Given the description of an element on the screen output the (x, y) to click on. 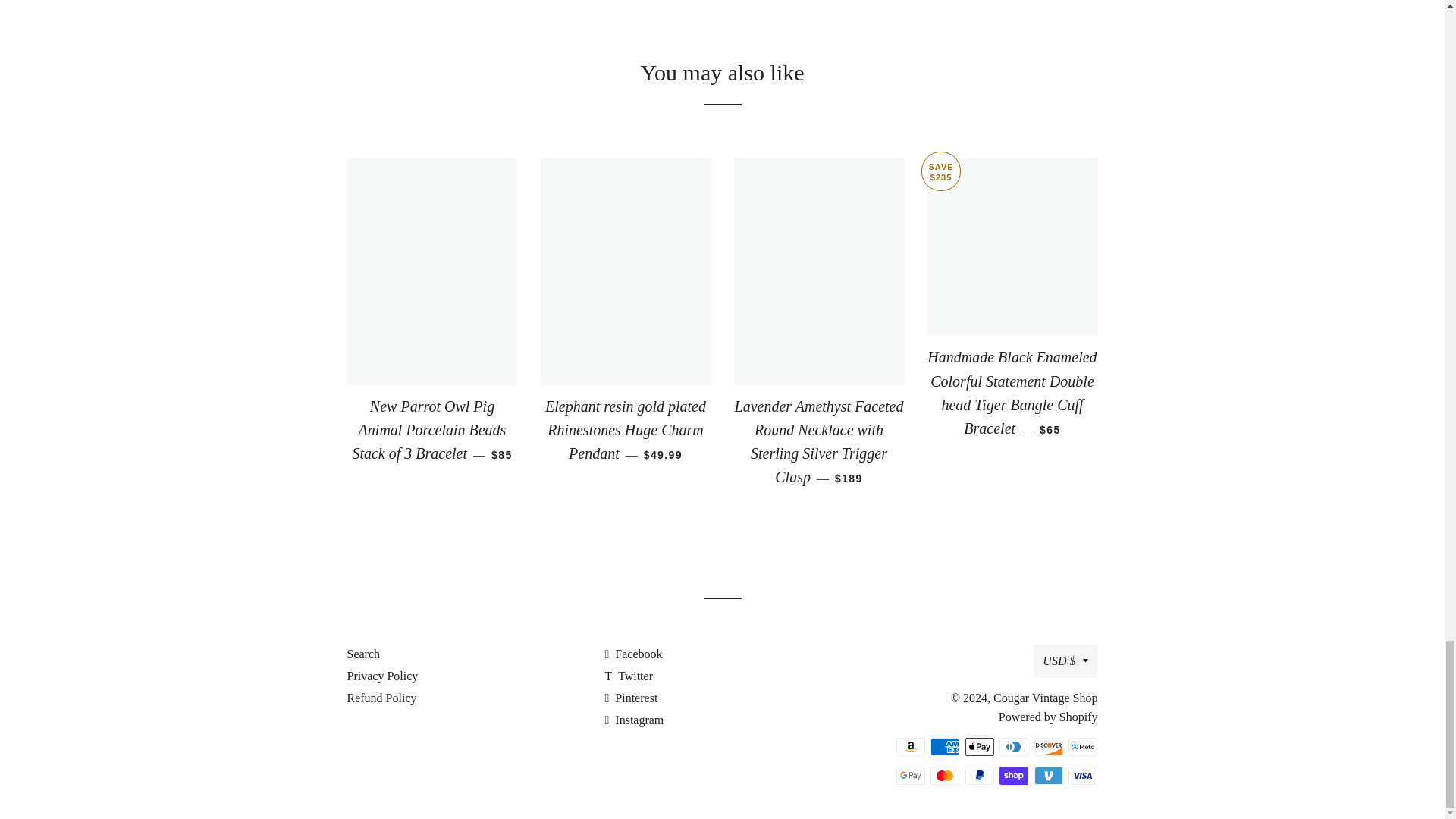
Search (363, 653)
Privacy Policy (383, 675)
Google Pay (910, 775)
Cougar Vintage Shop on Facebook (633, 653)
PayPal (979, 775)
Diners Club (1012, 746)
Instagram (633, 719)
Twitter (628, 675)
Refund Policy (381, 697)
Amazon (910, 746)
Visa (1082, 775)
Mastercard (944, 775)
Discover (1047, 746)
Shop Pay (1012, 775)
Apple Pay (979, 746)
